Given the description of an element on the screen output the (x, y) to click on. 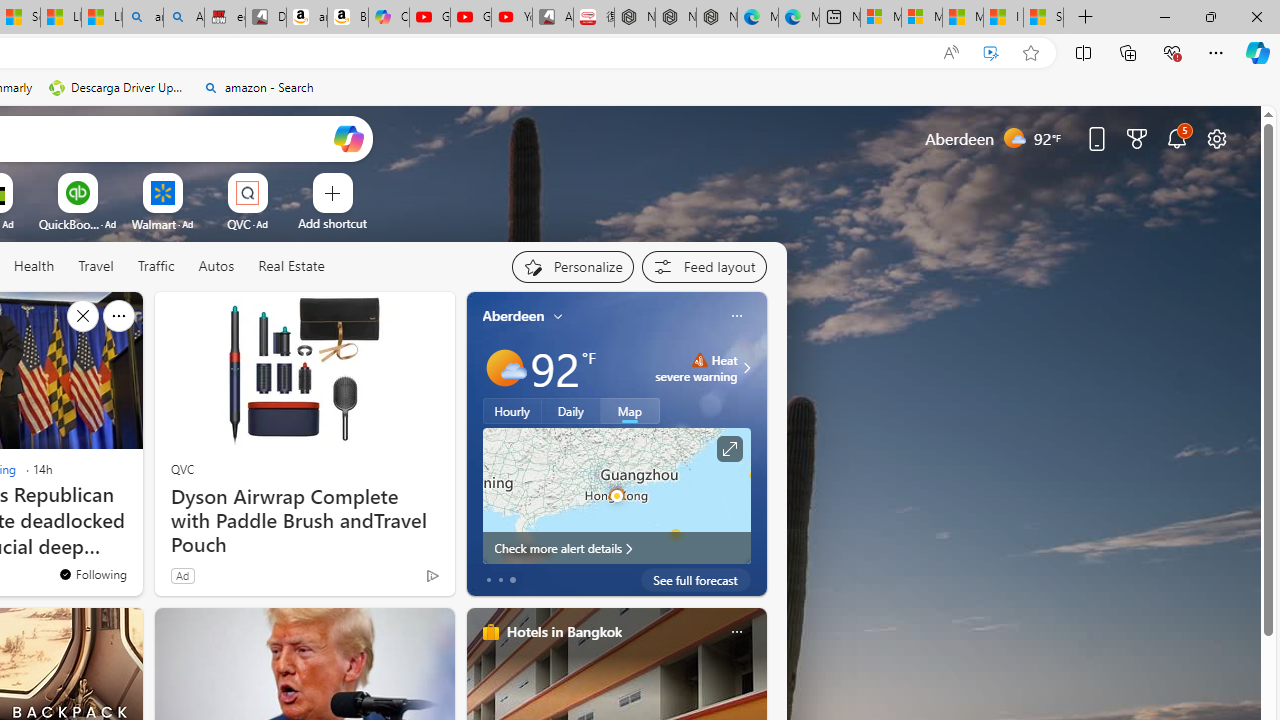
amazon - Search (142, 17)
Split screen (1083, 52)
Mostly sunny (504, 368)
Daily (571, 411)
Nordace Comino Totepack (634, 17)
Ad (182, 575)
Personalize your feed" (571, 266)
Nordace - Nordace has arrived Hong Kong (717, 17)
Copilot (Ctrl+Shift+.) (1258, 52)
Descarga Driver Updater (118, 88)
Real Estate (291, 265)
tab-1 (500, 579)
